Given the description of an element on the screen output the (x, y) to click on. 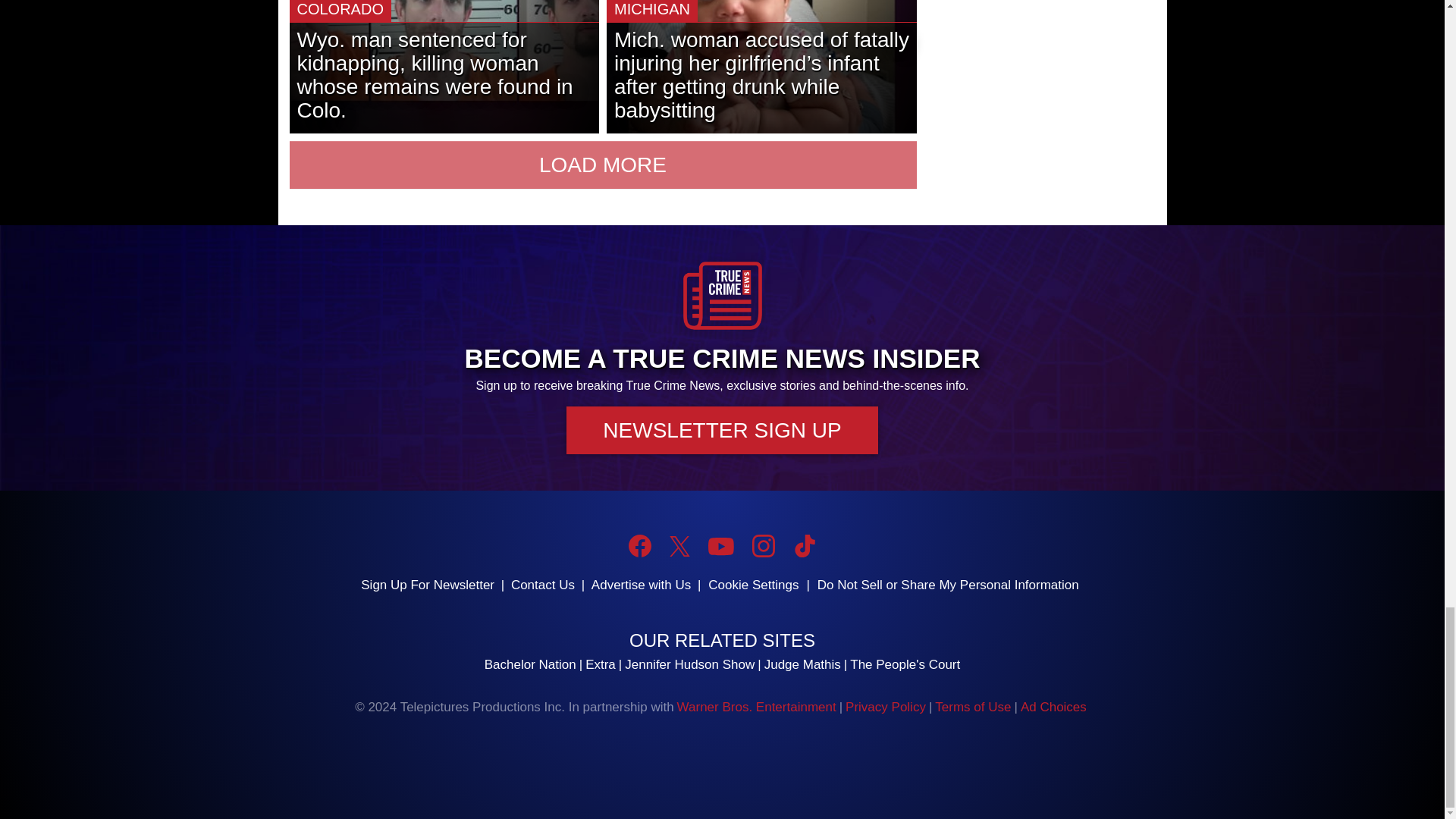
Twitter (679, 546)
Facebook (639, 545)
Instagram (763, 545)
TikTok (804, 545)
YouTube (720, 546)
